Given the description of an element on the screen output the (x, y) to click on. 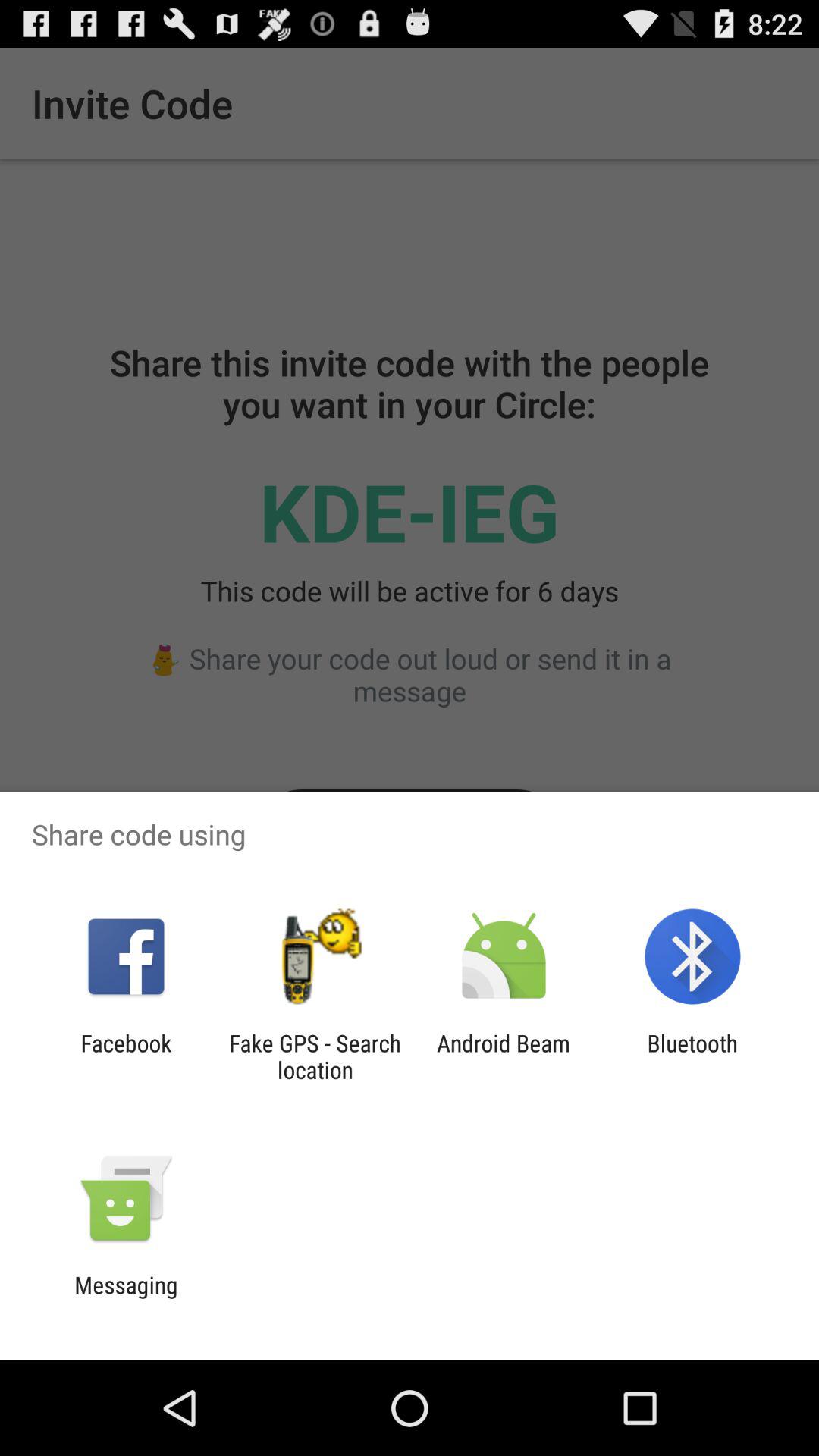
tap the app to the right of facebook icon (314, 1056)
